Given the description of an element on the screen output the (x, y) to click on. 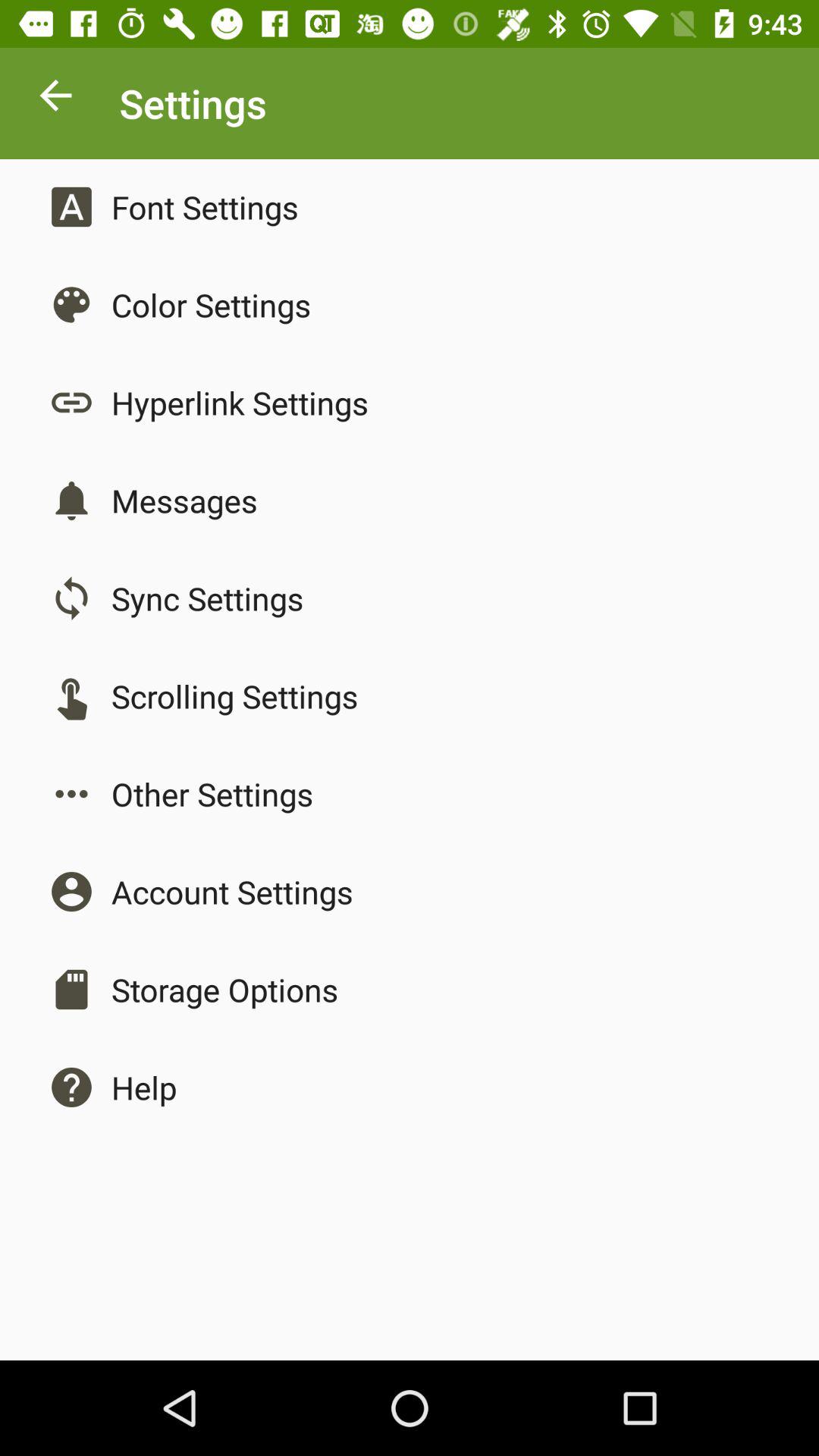
jump until storage options icon (224, 989)
